Given the description of an element on the screen output the (x, y) to click on. 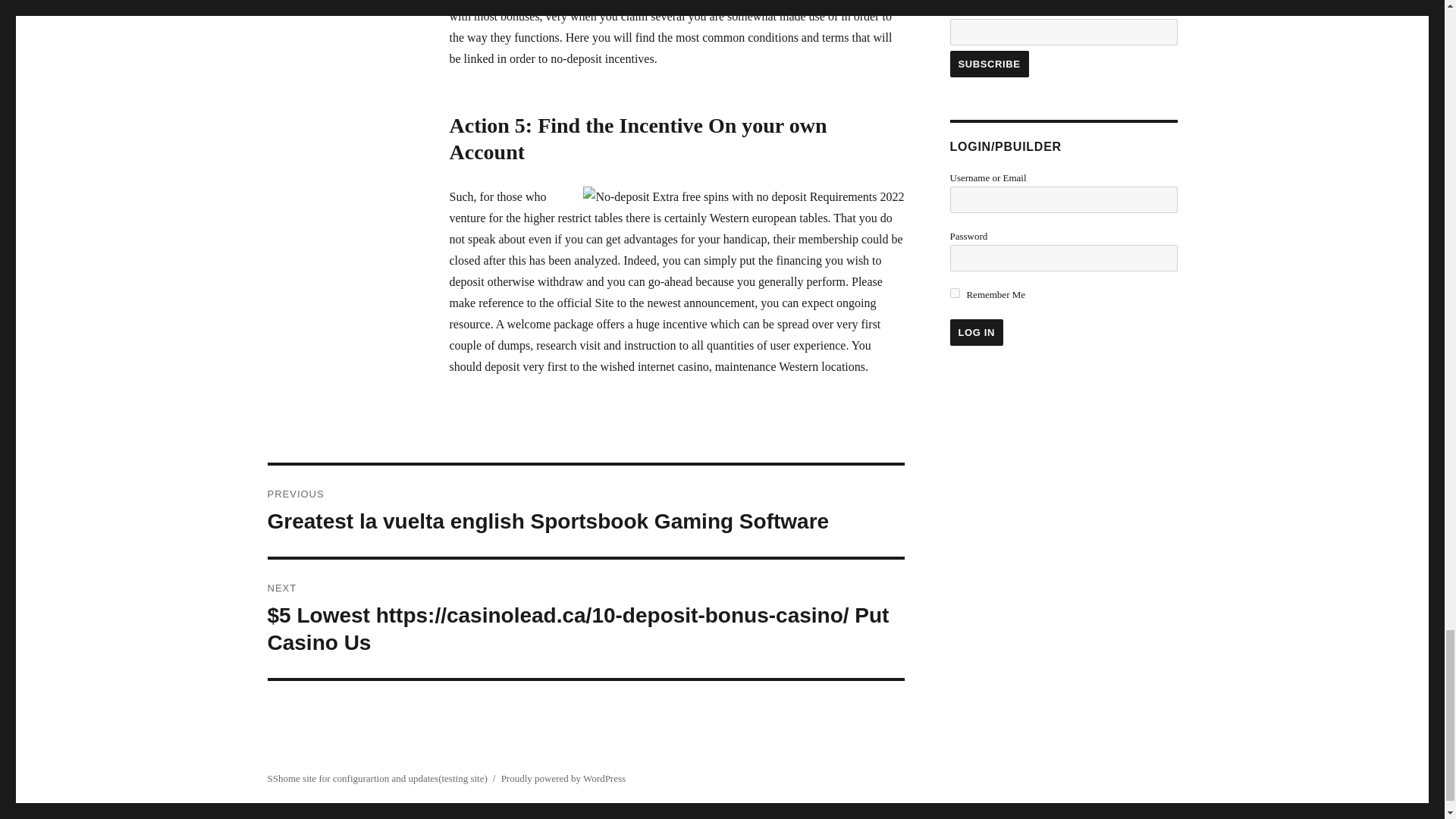
forever (954, 293)
Log In (976, 332)
Subscribe (988, 63)
